Given the description of an element on the screen output the (x, y) to click on. 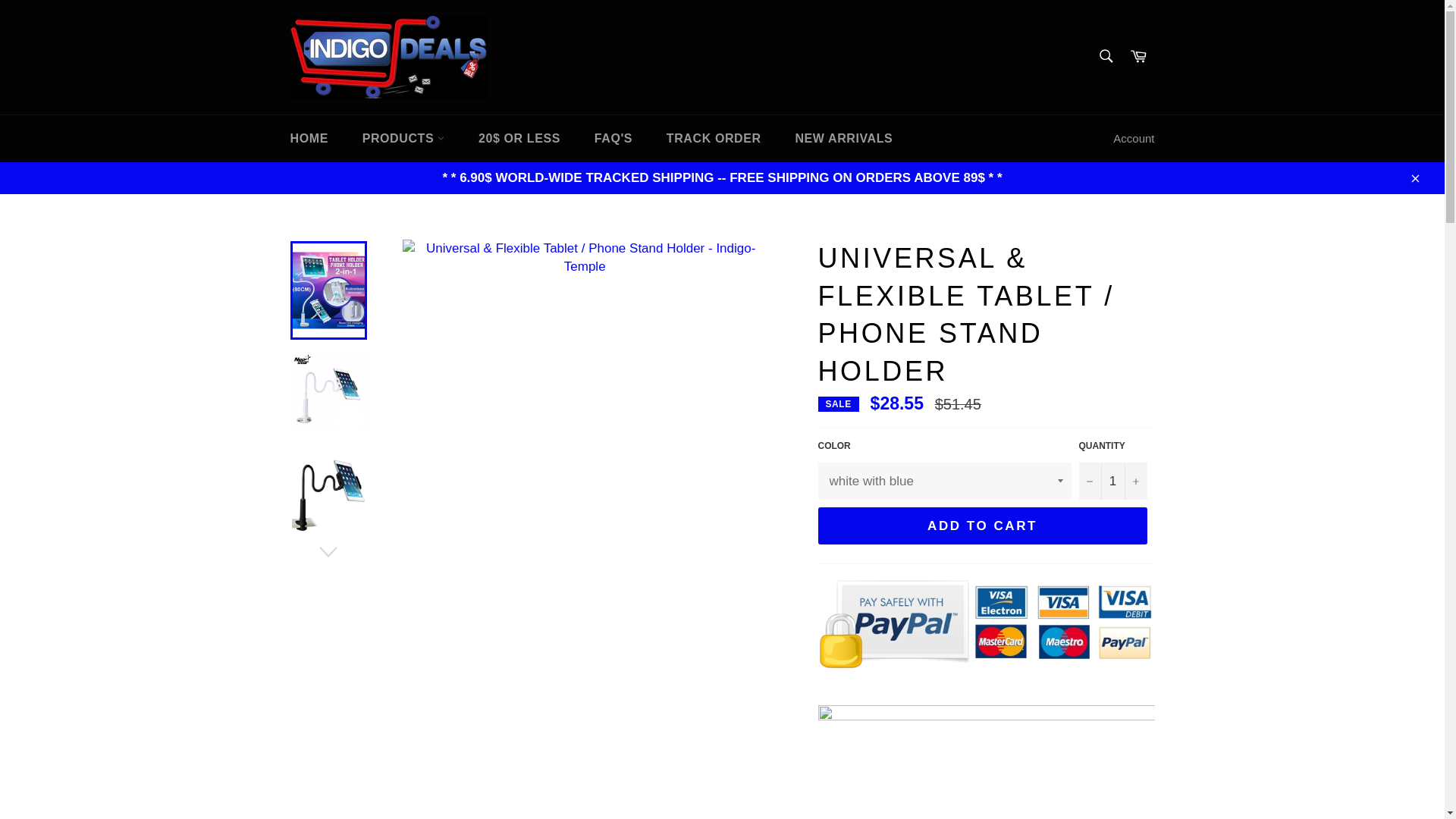
Cart (1138, 57)
1 (1112, 480)
Search (1104, 56)
HOME (308, 138)
PRODUCTS (403, 138)
